Given the description of an element on the screen output the (x, y) to click on. 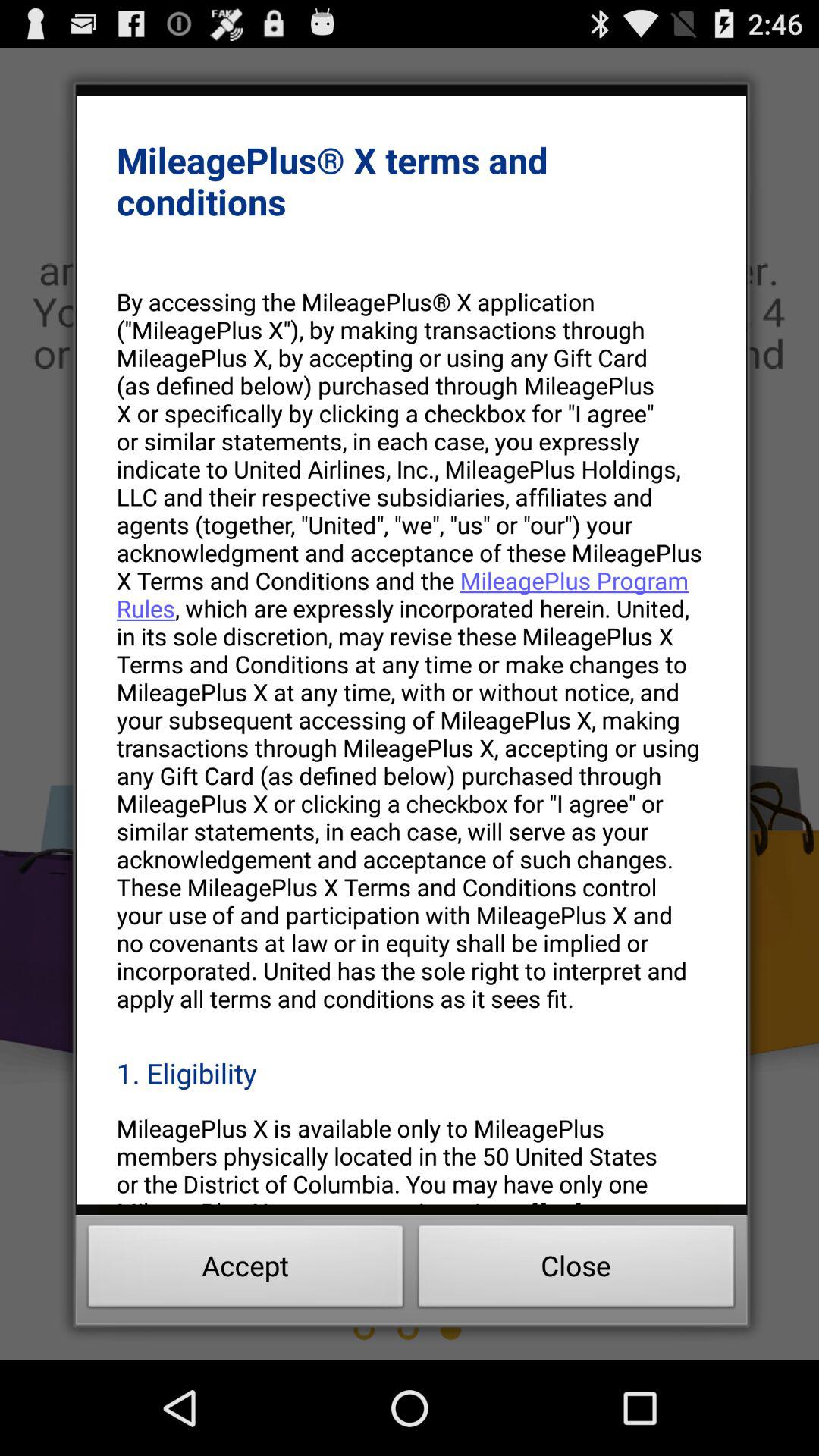
choose item next to the accept button (576, 1270)
